Given the description of an element on the screen output the (x, y) to click on. 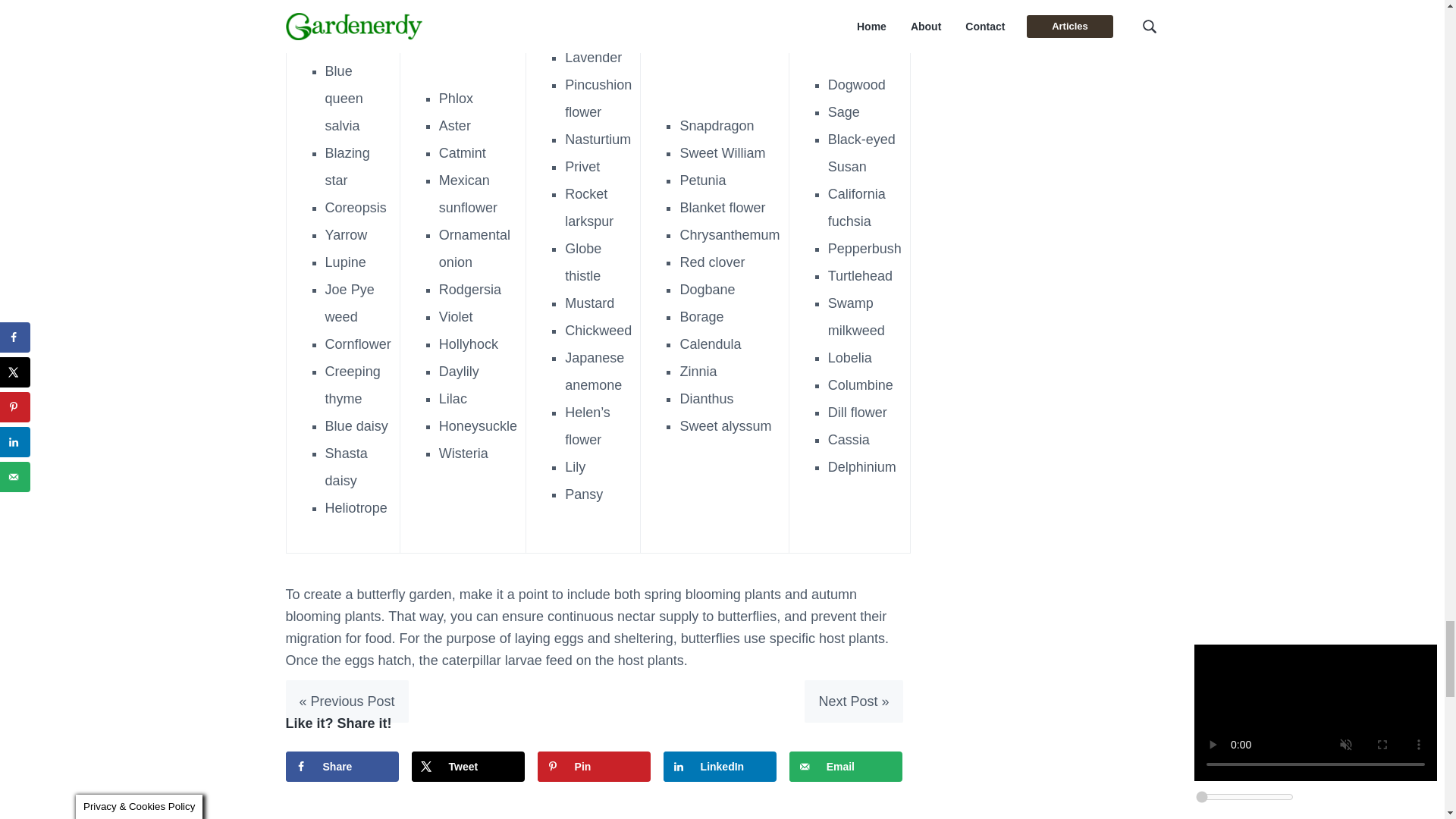
Pin (593, 766)
Save to Pinterest (593, 766)
Email (845, 766)
Share (341, 766)
Share on LinkedIn (720, 766)
LinkedIn (720, 766)
Share on Facebook (341, 766)
Tweet (468, 766)
Share on X (468, 766)
